Given the description of an element on the screen output the (x, y) to click on. 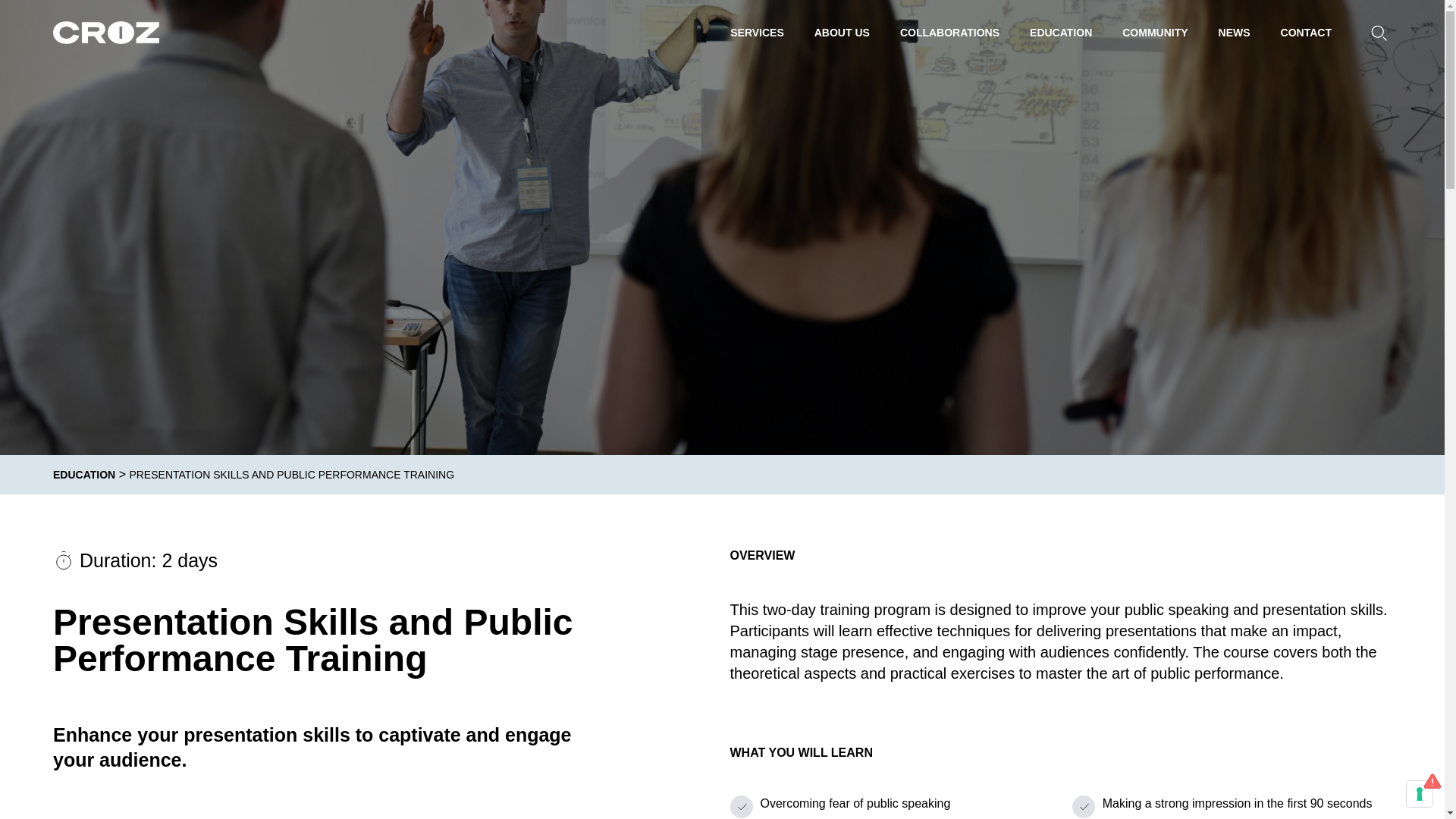
COMMUNITY (1154, 31)
NEWS (1234, 31)
CONTACT (1305, 31)
ABOUT US (841, 31)
Go to Education. (83, 474)
EDUCATION (1060, 31)
COLLABORATIONS (949, 31)
SERVICES (756, 31)
EDUCATION (83, 474)
